Given the description of an element on the screen output the (x, y) to click on. 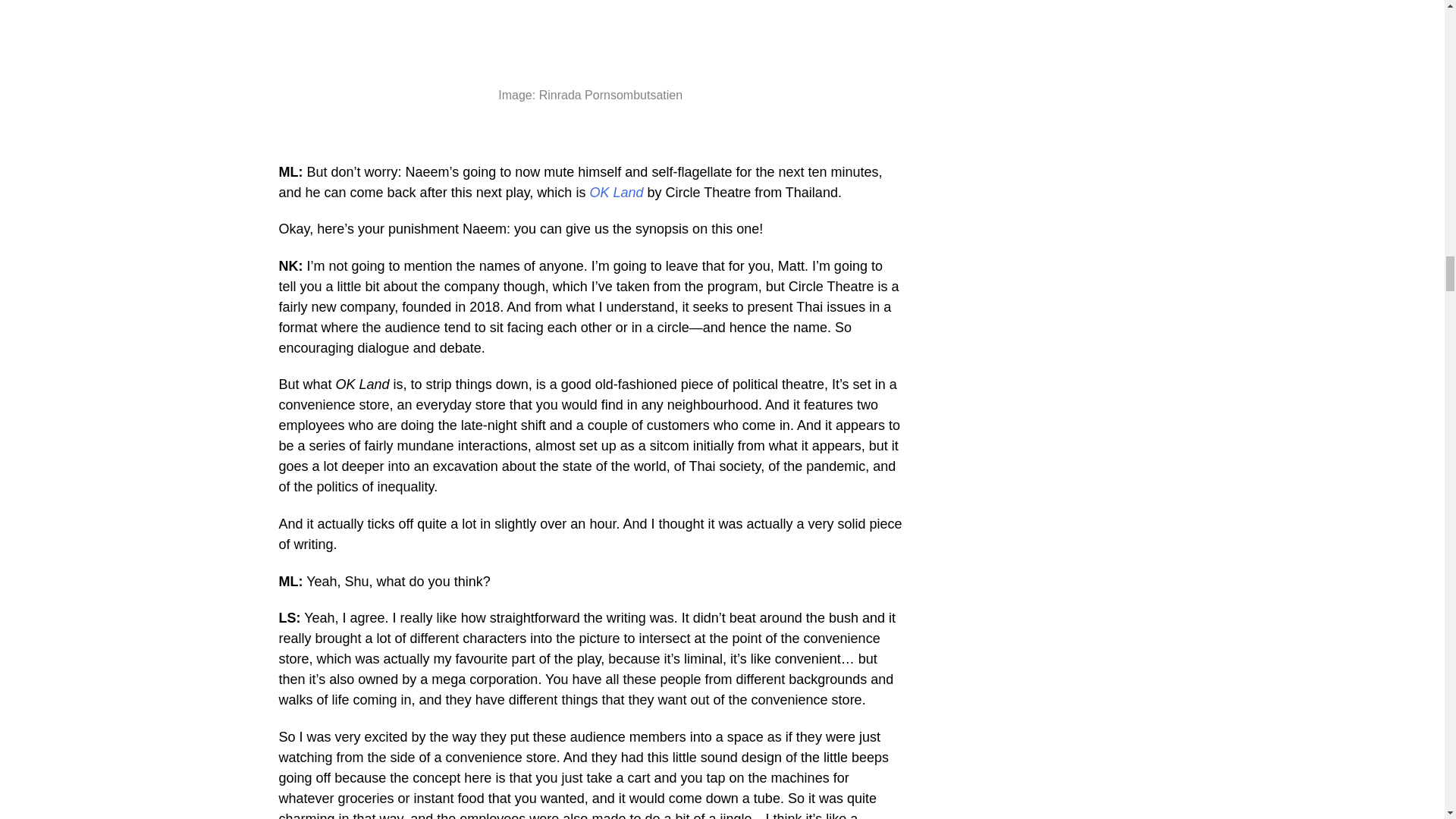
OK Land (616, 192)
